Given the description of an element on the screen output the (x, y) to click on. 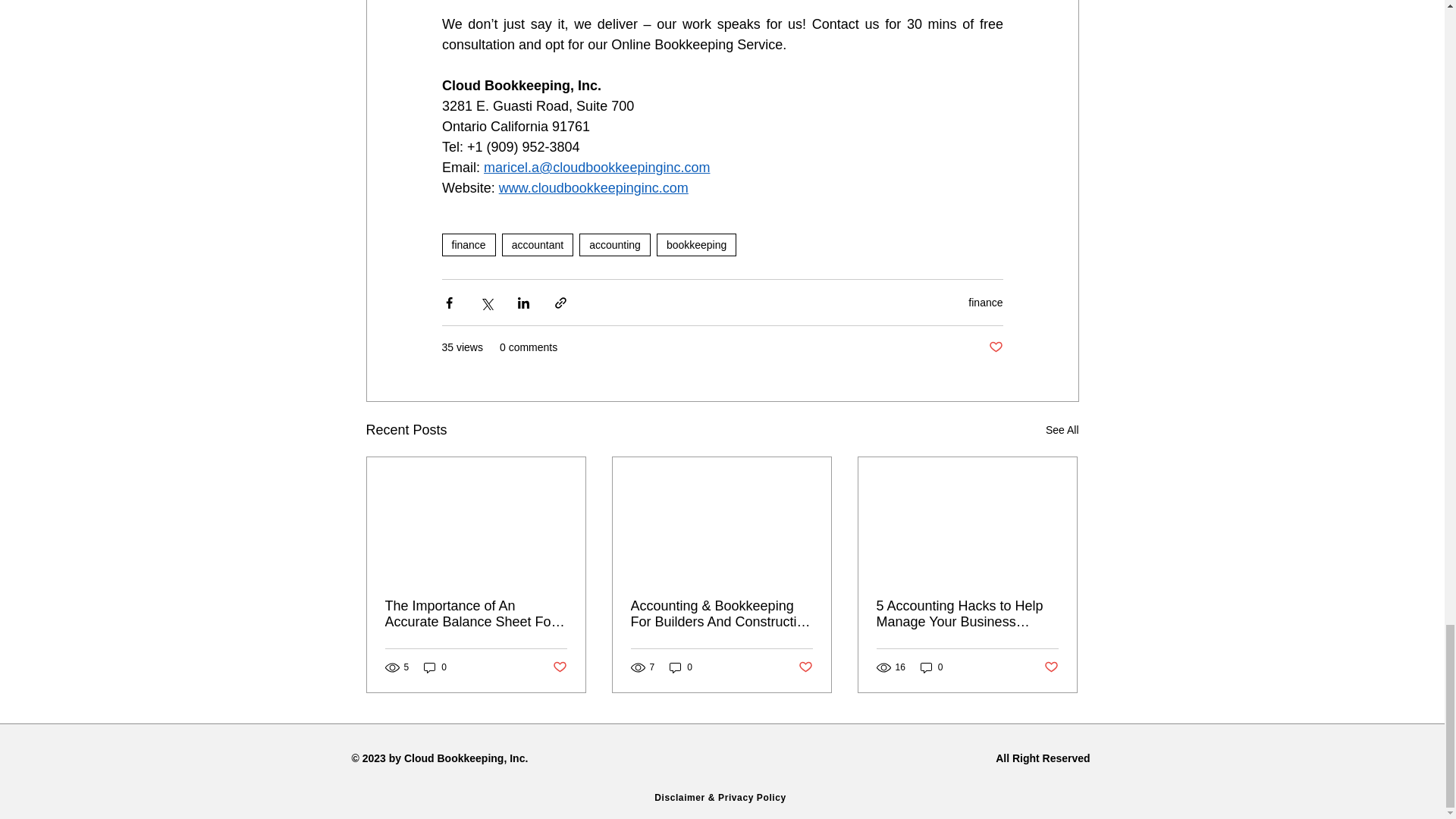
accounting (614, 244)
finance (468, 244)
Post not marked as liked (558, 667)
0 (681, 667)
Post not marked as liked (995, 347)
5 Accounting Hacks to Help Manage Your Business Cashflow (967, 613)
0 (435, 667)
finance (985, 302)
See All (1061, 430)
